Given the description of an element on the screen output the (x, y) to click on. 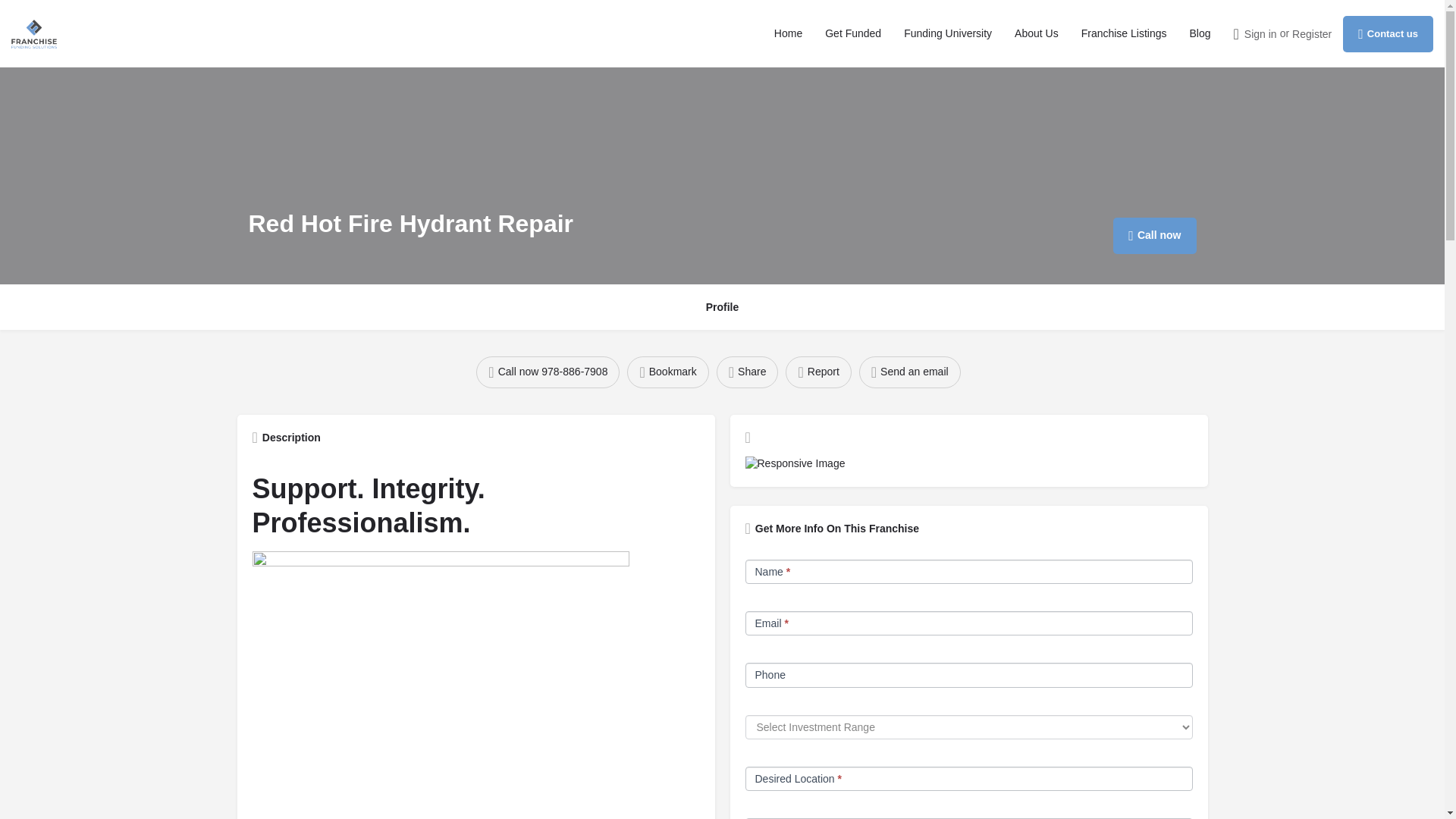
Profile (722, 307)
Send an email (909, 372)
Bookmark (667, 372)
Funding University (947, 32)
Get Funded (852, 32)
Franchise Listings (1124, 32)
Share (747, 372)
About Us (1036, 32)
Home (788, 32)
Contact us (1387, 33)
Call now 978-886-7908 (548, 372)
Blog (1199, 32)
Call now (1154, 235)
Report (818, 372)
Register (1312, 33)
